Given the description of an element on the screen output the (x, y) to click on. 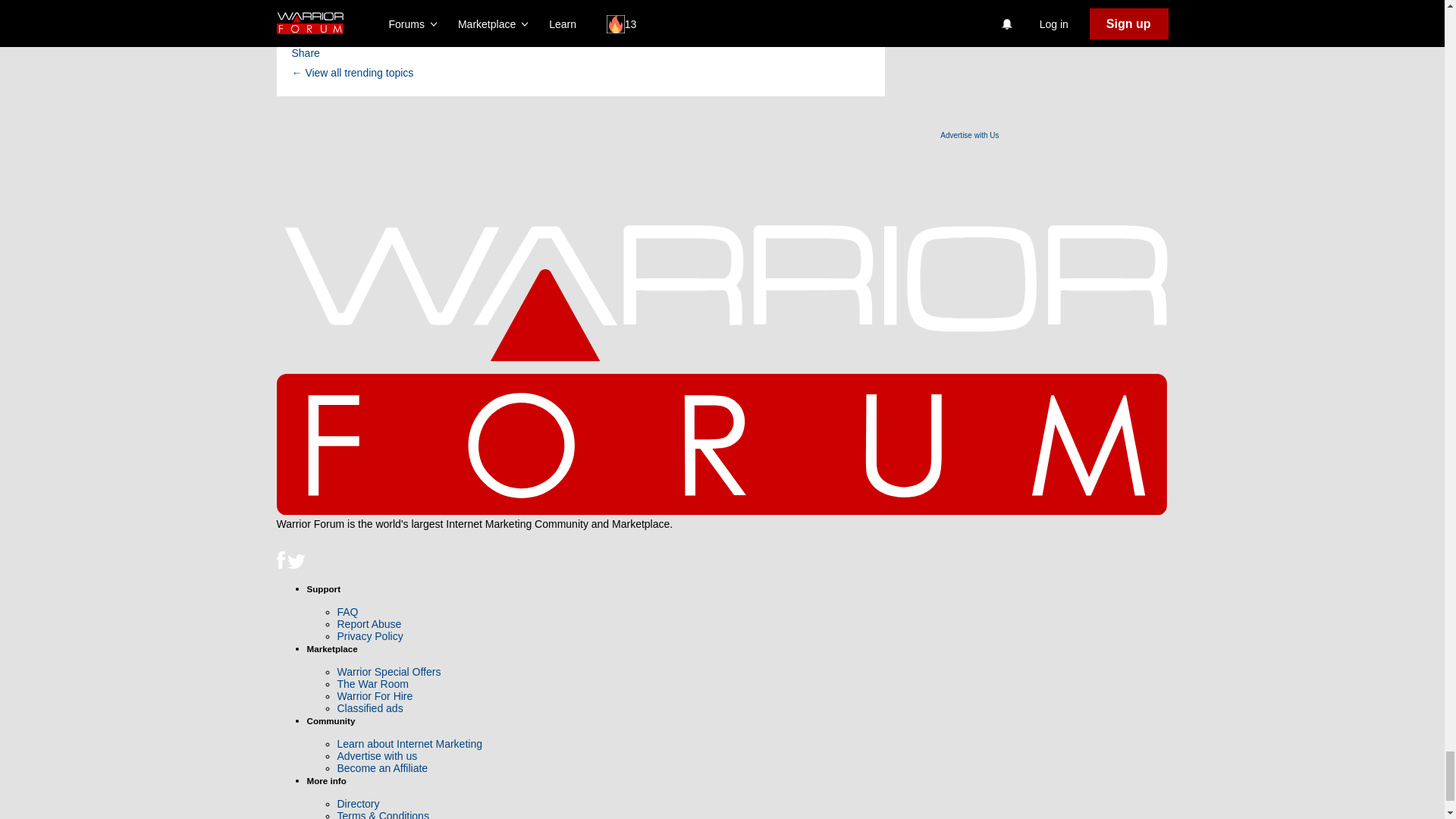
Facebook (279, 559)
Warrior Forum on Twitter (295, 565)
Warrior Forum on Facebook (281, 565)
Bird (295, 561)
